Given the description of an element on the screen output the (x, y) to click on. 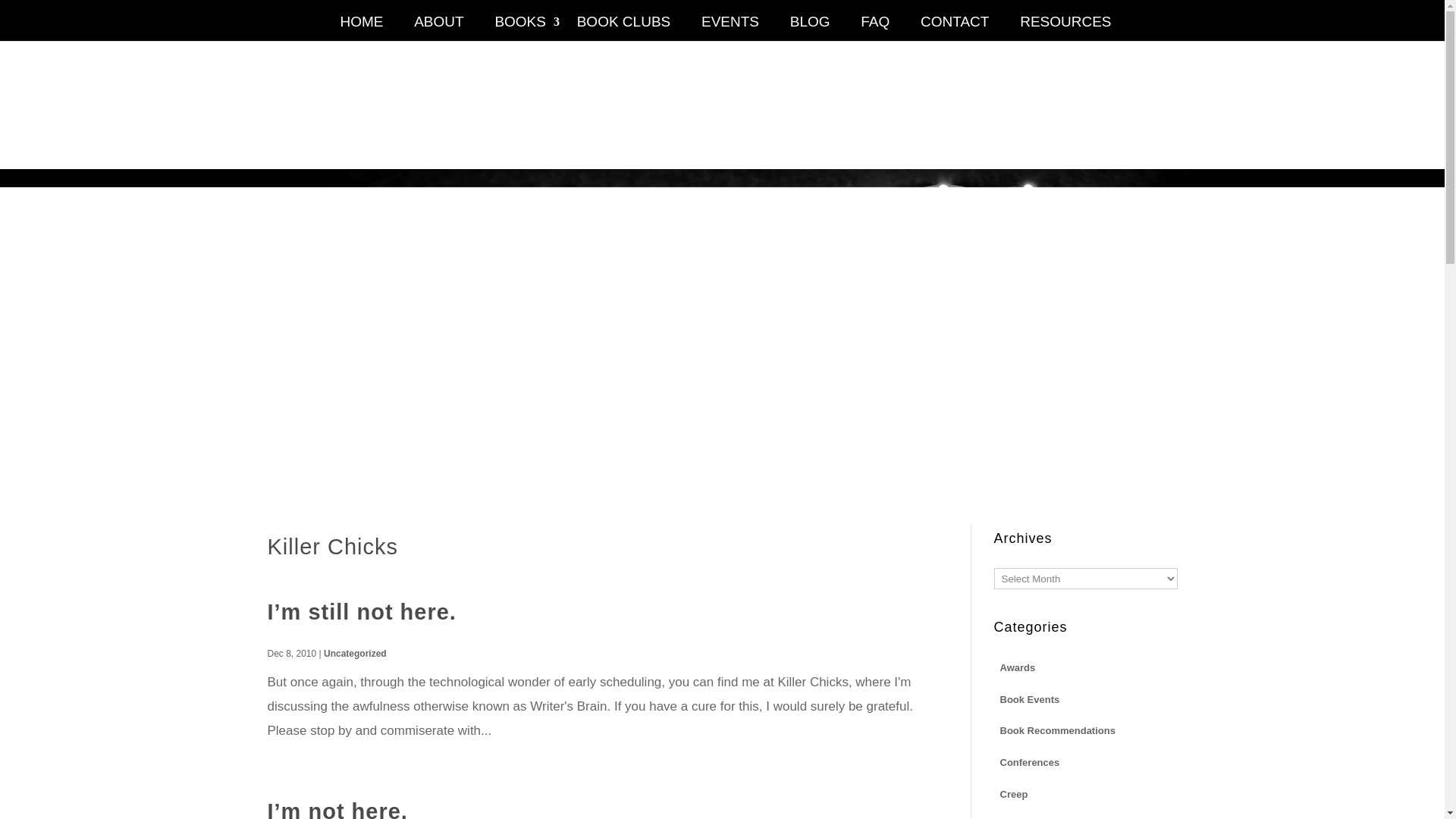
Book Events (1028, 698)
Conferences (1028, 761)
HOME (361, 28)
BLOG (810, 28)
CONTACT (954, 28)
Book Recommendations (1056, 729)
Jar of Hearts (1028, 816)
Uncategorized (355, 653)
Awards (1016, 666)
BOOKS (520, 28)
